Given the description of an element on the screen output the (x, y) to click on. 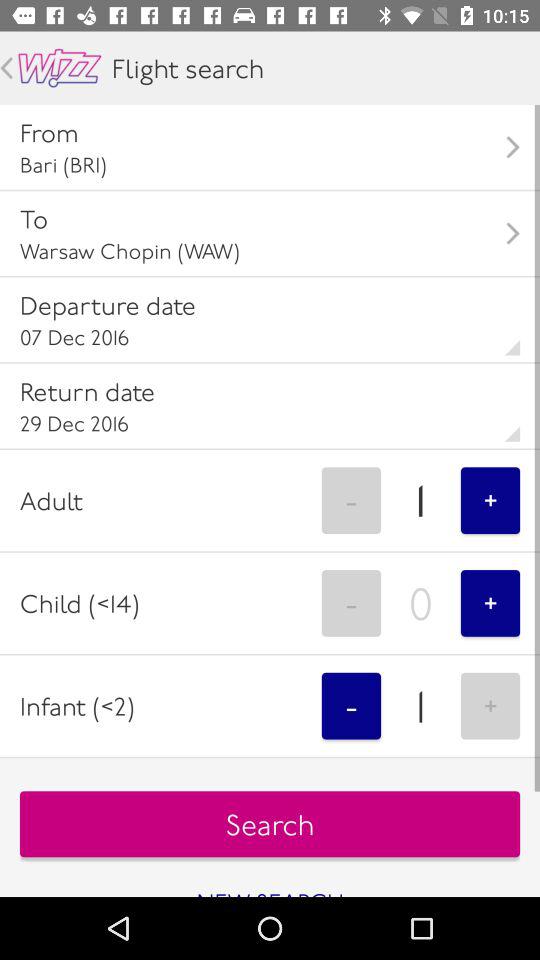
tap + item (490, 603)
